Given the description of an element on the screen output the (x, y) to click on. 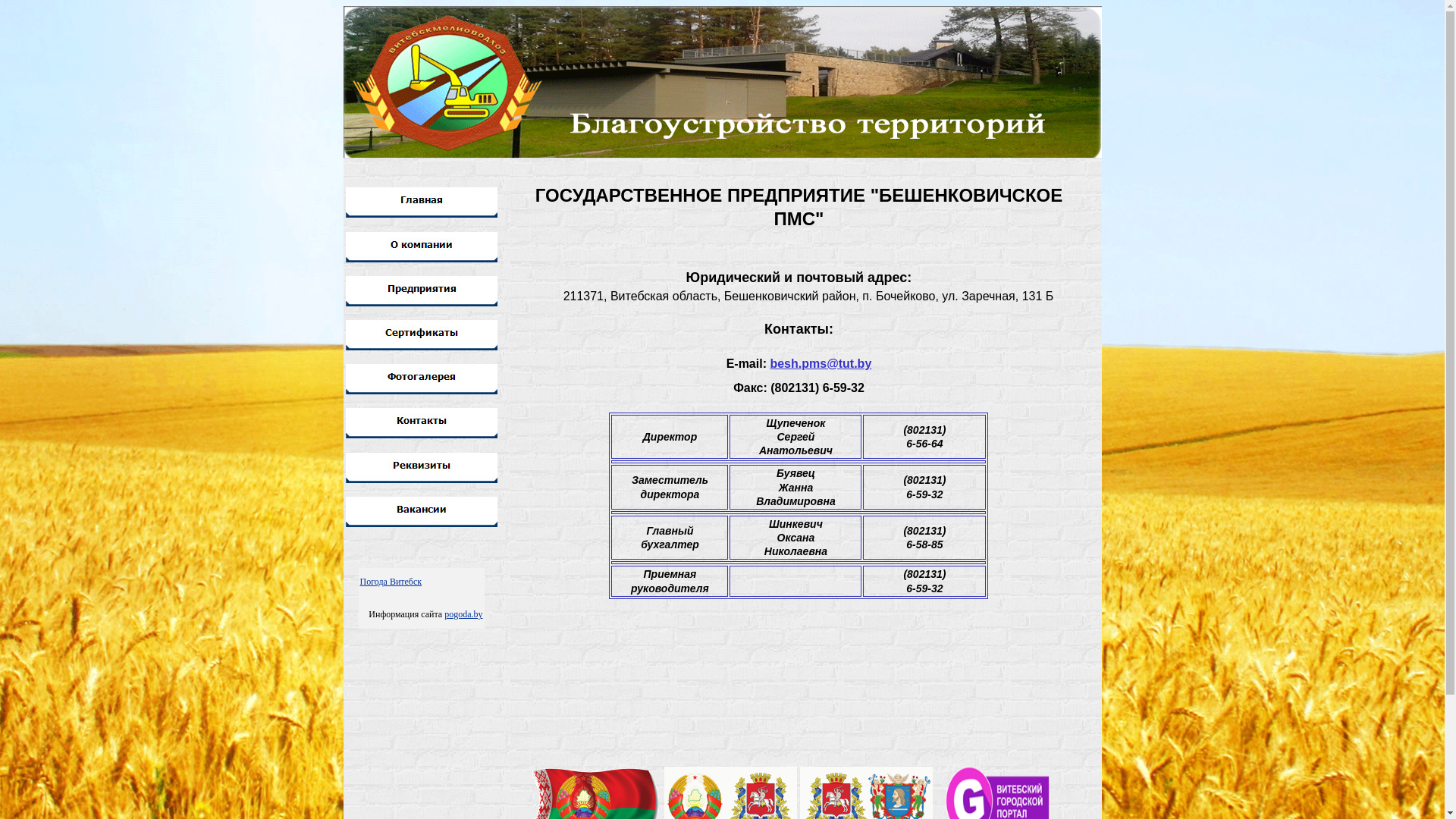
besh.pms@tut.by Element type: text (820, 363)
pogoda.by Element type: text (463, 613)
